Given the description of an element on the screen output the (x, y) to click on. 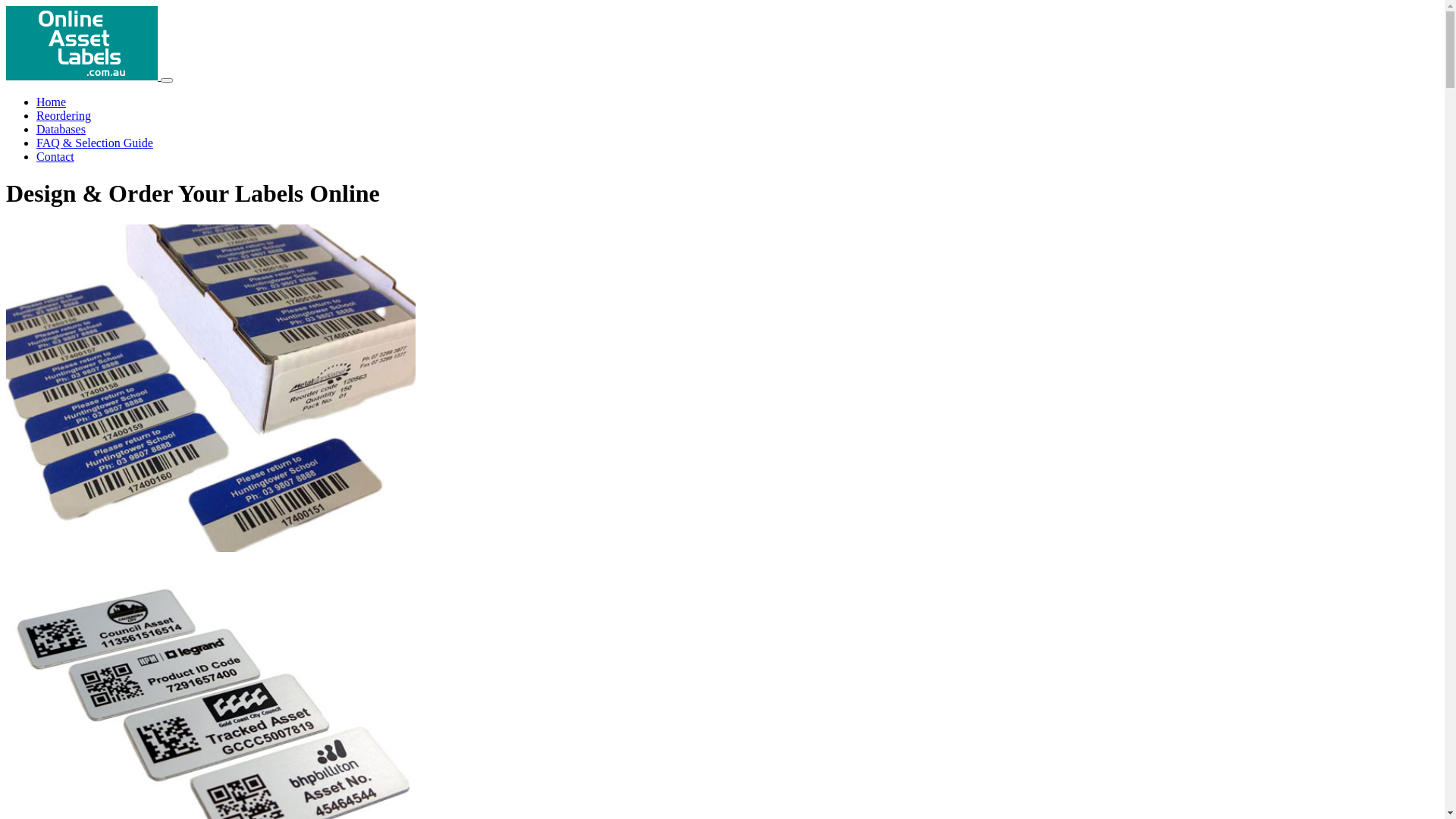
Home Element type: text (50, 101)
Reordering Element type: text (63, 115)
Databases Element type: text (60, 128)
Contact Element type: text (55, 156)
FAQ & Selection Guide Element type: text (94, 142)
